Given the description of an element on the screen output the (x, y) to click on. 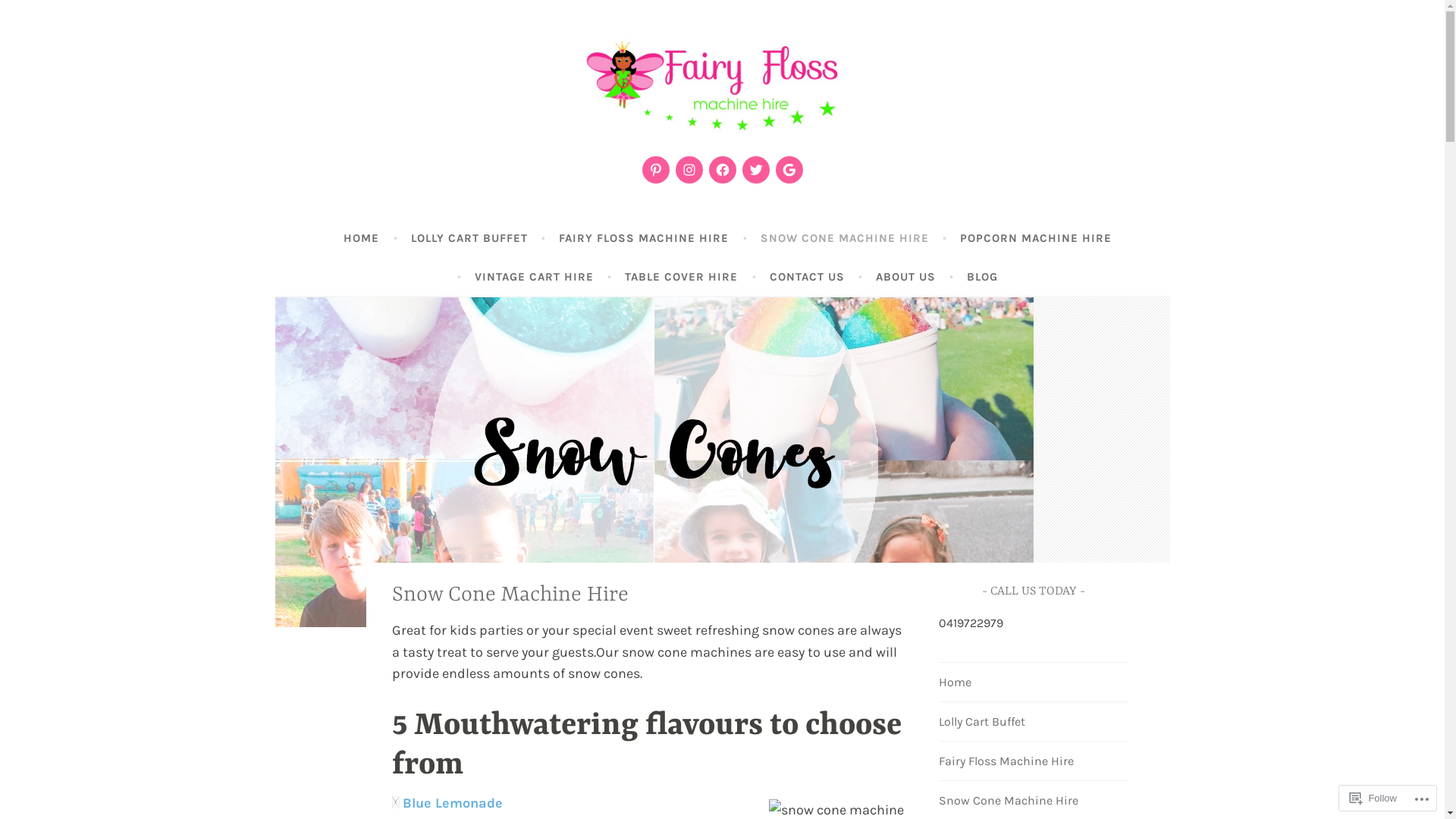
Lolly Cart Buffet Element type: text (981, 721)
ABOUT US Element type: text (905, 276)
SNOW CONE MACHINE HIRE Element type: text (844, 237)
LOLLY CART BUFFET Element type: text (469, 237)
TABLE COVER HIRE Element type: text (680, 276)
fairy floss machine hire Element type: text (480, 179)
POPCORN MACHINE HIRE Element type: text (1035, 237)
Fairy Floss Machine Hire Element type: text (1005, 760)
FAIRY FLOSS MACHINE HIRE Element type: text (643, 237)
Home Element type: text (954, 681)
HOME Element type: text (361, 237)
BLOG Element type: text (981, 276)
CONTACT US Element type: text (806, 276)
Follow Element type: text (1372, 797)
VINTAGE CART HIRE Element type: text (533, 276)
Snow Cone Machine Hire Element type: text (1008, 800)
